Given the description of an element on the screen output the (x, y) to click on. 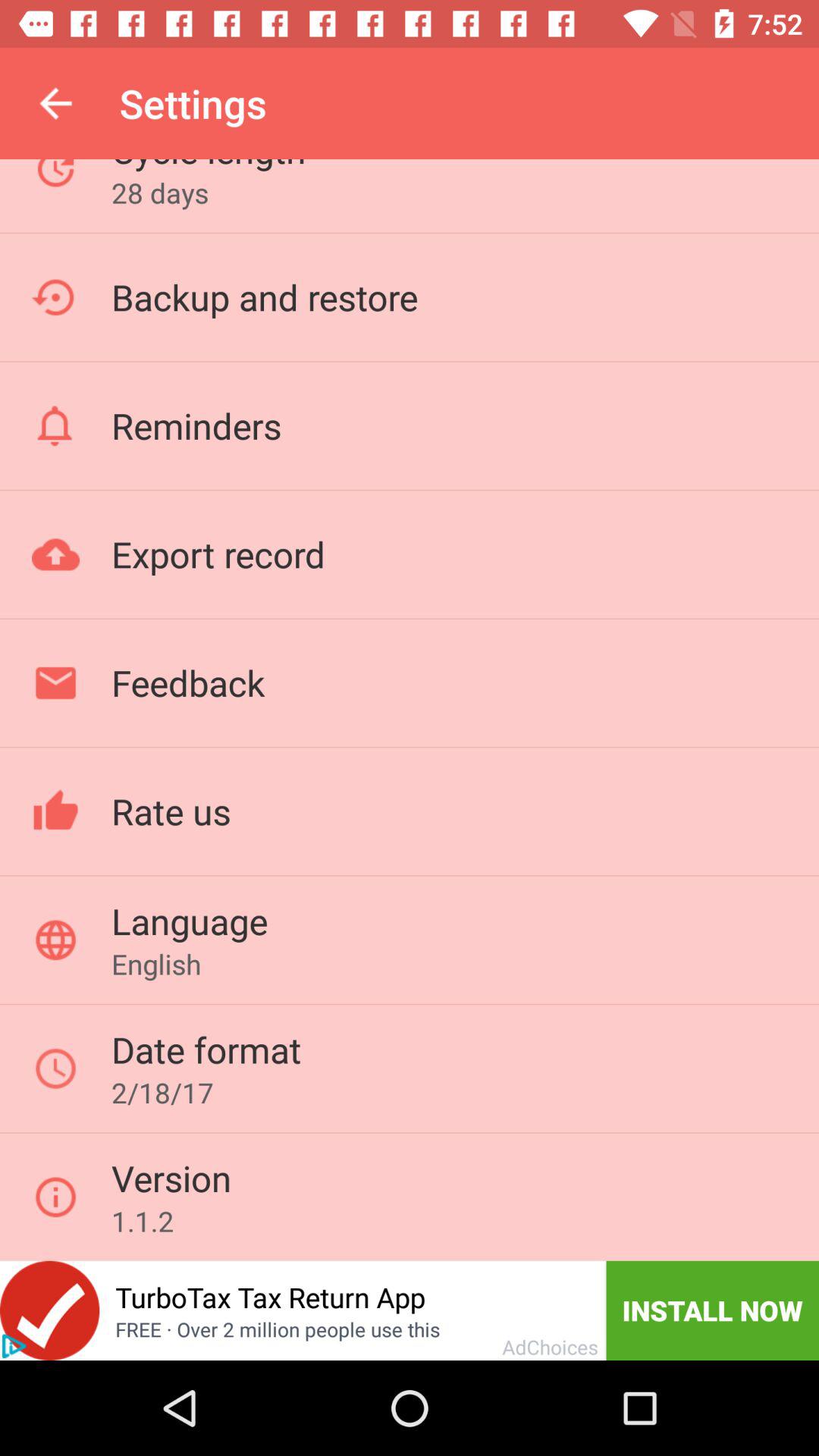
open icon above reminders (264, 297)
